Given the description of an element on the screen output the (x, y) to click on. 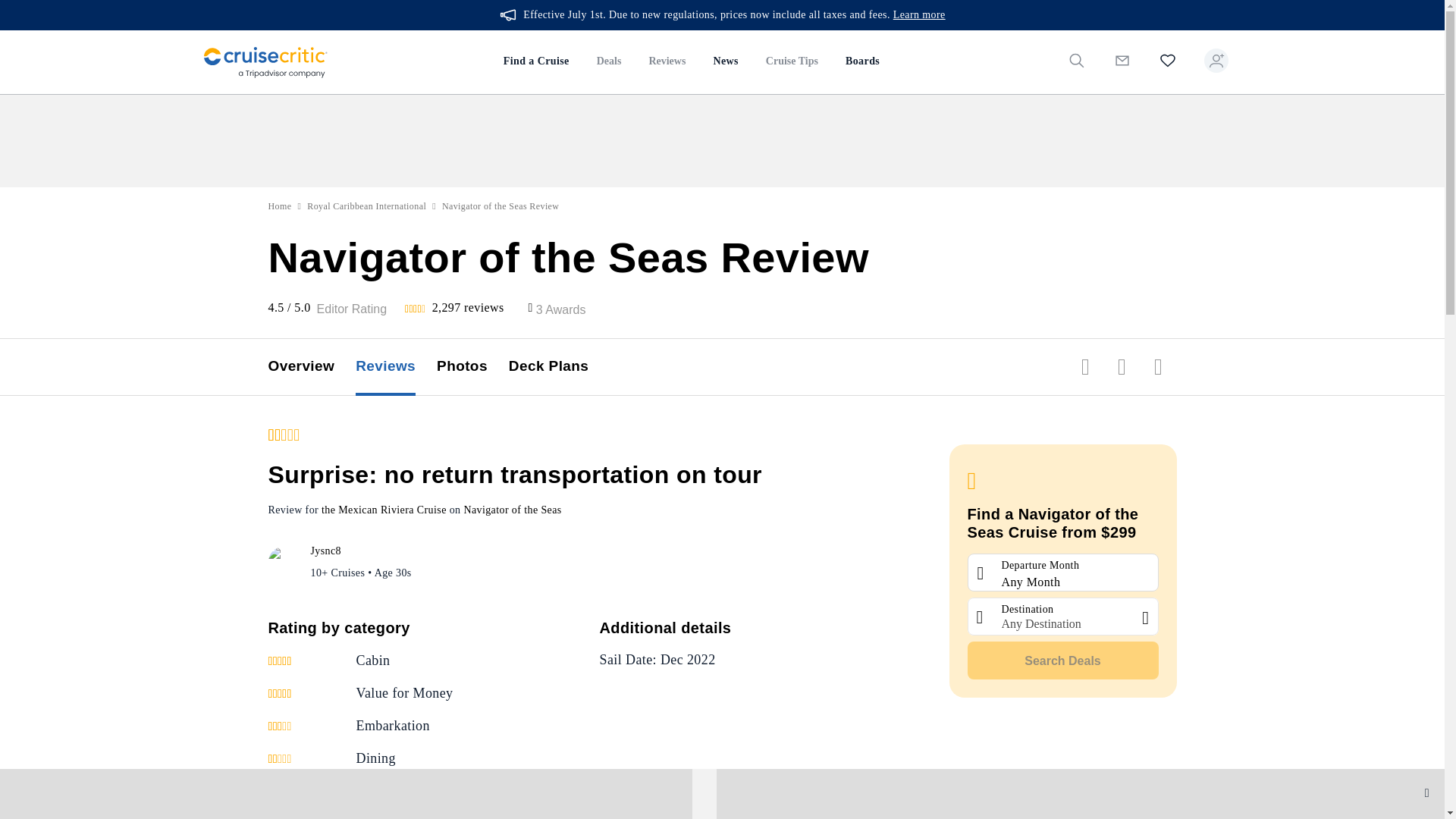
Boards (861, 62)
3 Awards (560, 309)
Navigator of the Seas (511, 509)
2,297 reviews (467, 307)
Photos (472, 366)
Home (279, 205)
Editor Rating (352, 309)
Deck Plans (559, 366)
Cruise Tips (791, 62)
Search Deals (1063, 660)
